Given the description of an element on the screen output the (x, y) to click on. 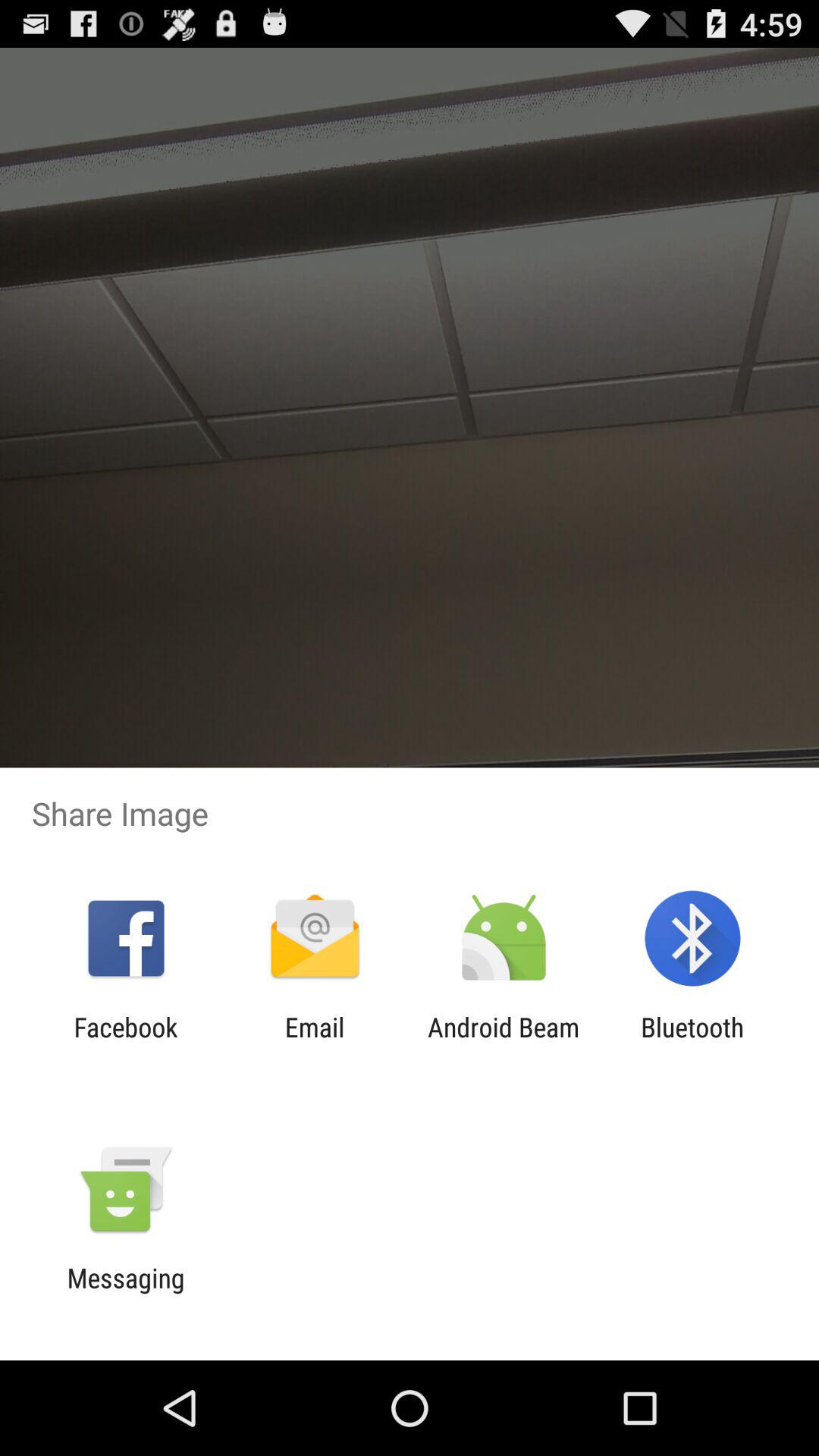
launch the icon next to the email icon (125, 1042)
